Given the description of an element on the screen output the (x, y) to click on. 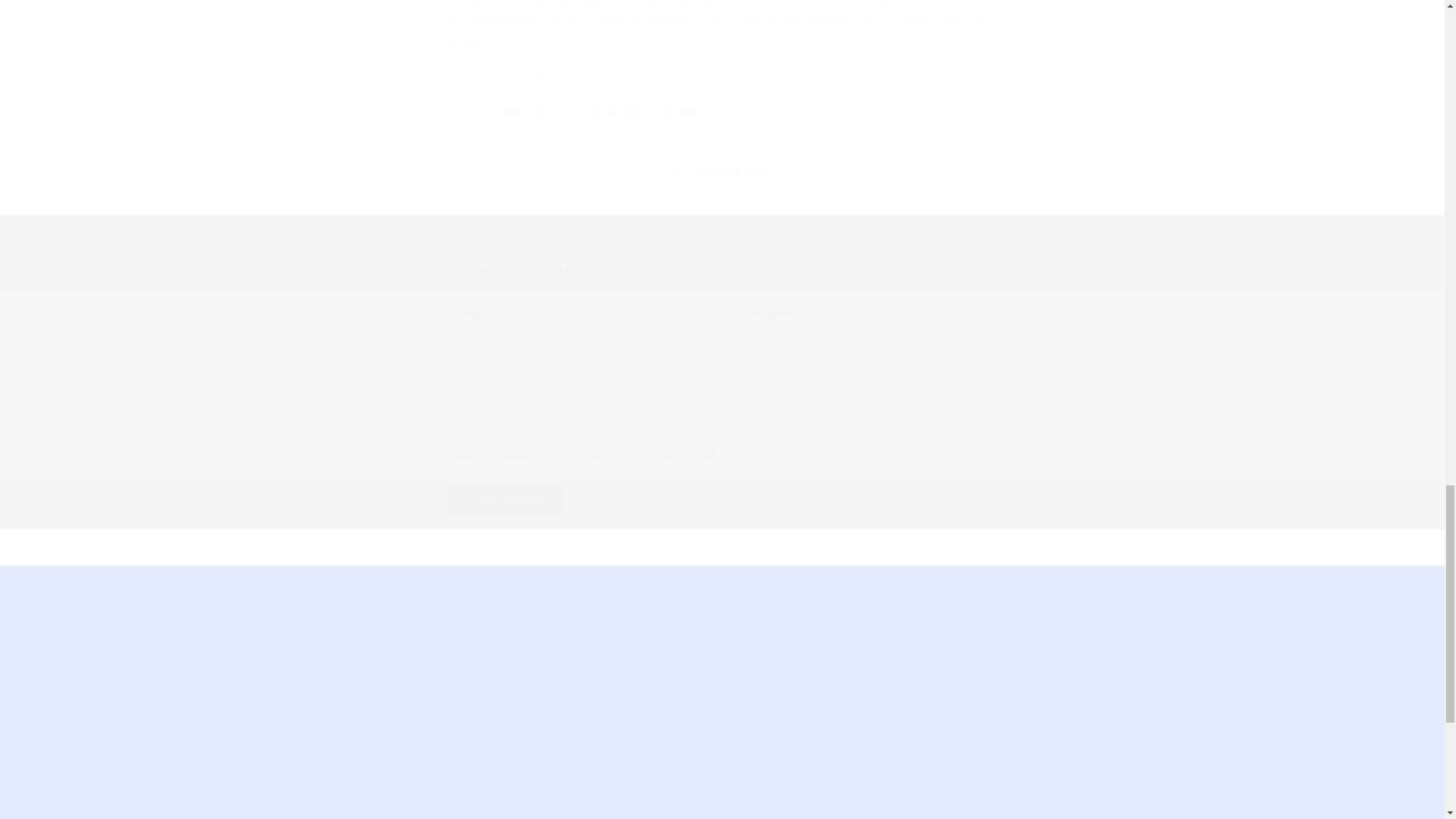
Post comment (506, 498)
Queen of Flowers Milk Bath Salt (686, 110)
